Given the description of an element on the screen output the (x, y) to click on. 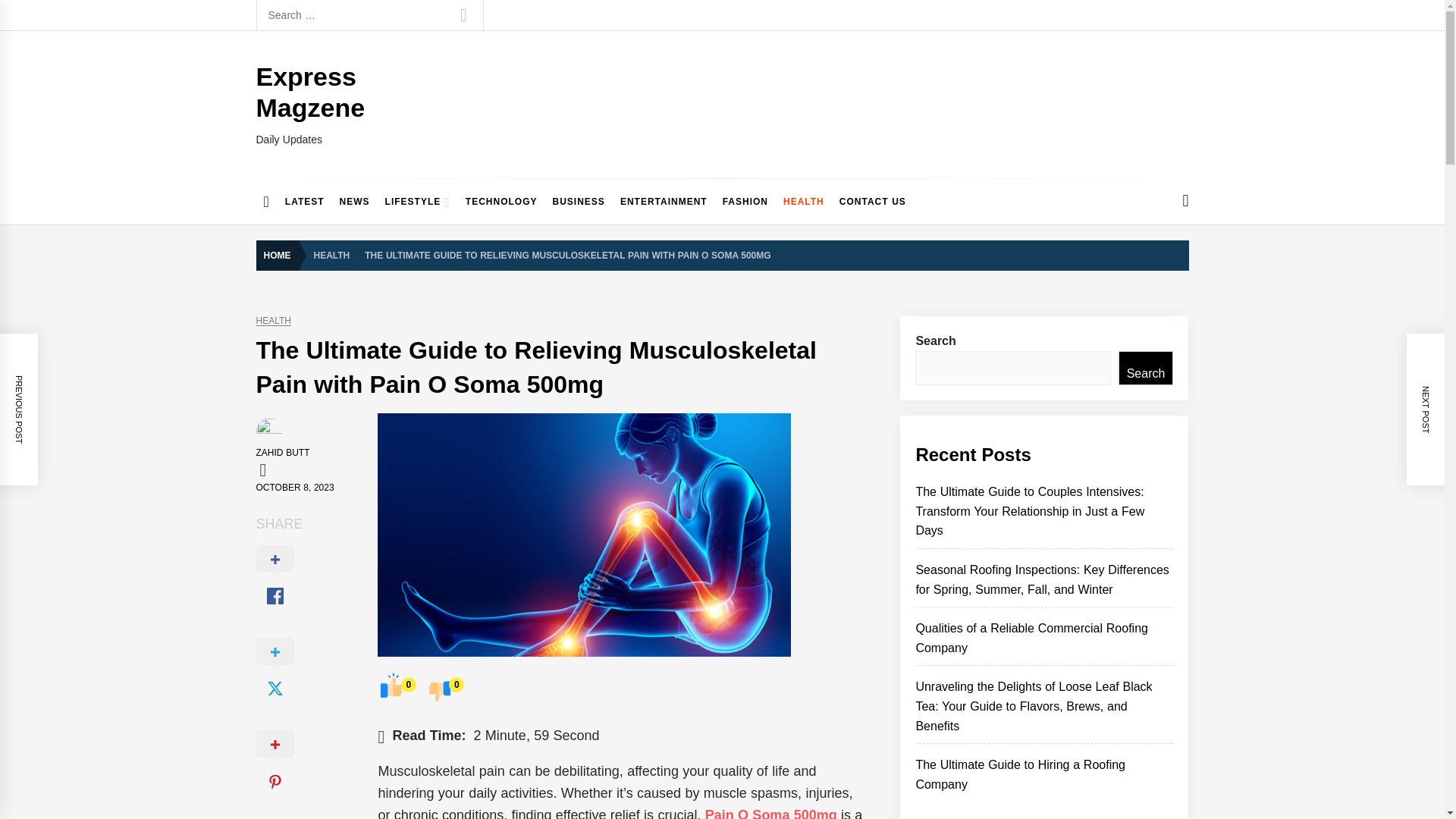
TECHNOLOGY (501, 201)
HOME (280, 255)
Search (462, 15)
Search (462, 15)
ENTERTAINMENT (663, 201)
CONTACT US (872, 201)
Express Magzene (310, 92)
OCTOBER 8, 2023 (295, 487)
LATEST (304, 201)
NEWS (354, 201)
HEALTH (331, 254)
Pain O Soma 500mg (767, 813)
Search (462, 15)
LIFESTYLE (417, 201)
